Given the description of an element on the screen output the (x, y) to click on. 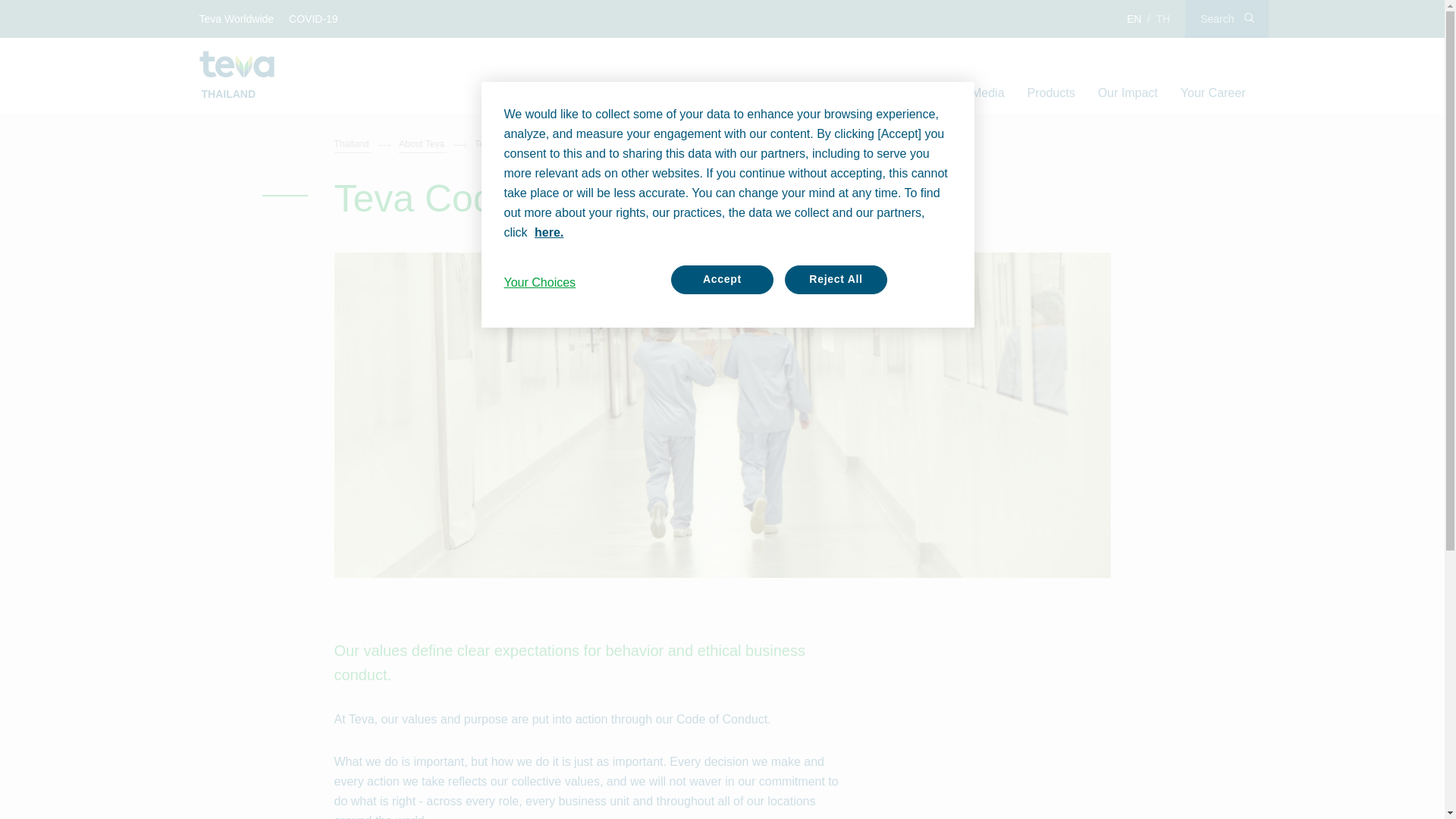
Teva (236, 63)
Teva Worldwide (236, 18)
Your Career (1213, 92)
COVID-19 (313, 18)
Our Impact (1127, 92)
English (1133, 18)
COVID-19 (313, 18)
About Teva (873, 92)
Products (1051, 92)
Search (1226, 18)
